Given the description of an element on the screen output the (x, y) to click on. 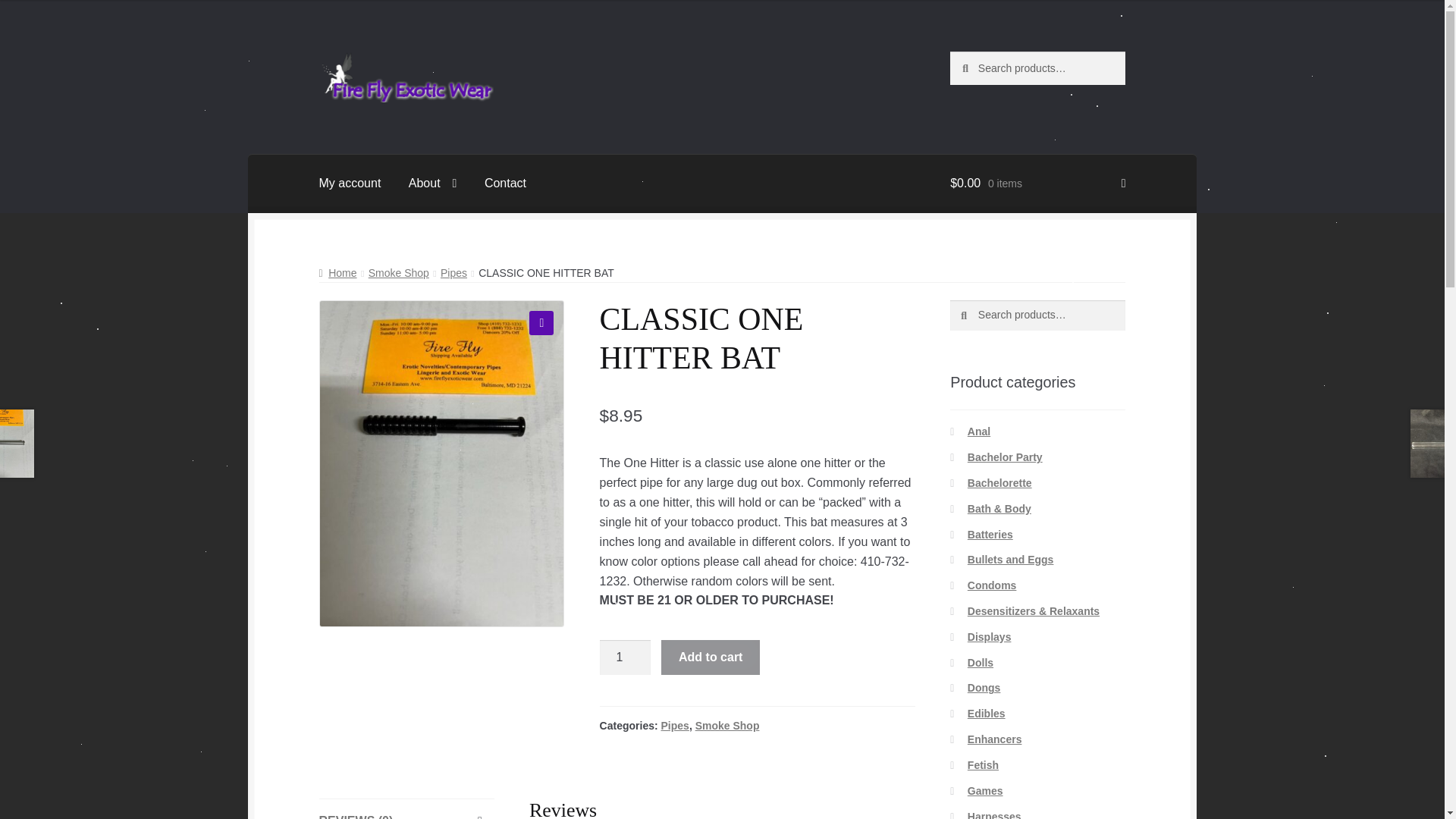
Pipes (454, 272)
Pipes (674, 725)
Home (337, 272)
Contact (504, 182)
Bachelor Party (1005, 457)
View your shopping cart (1037, 182)
About (432, 182)
Bachelorette (1000, 482)
